Given the description of an element on the screen output the (x, y) to click on. 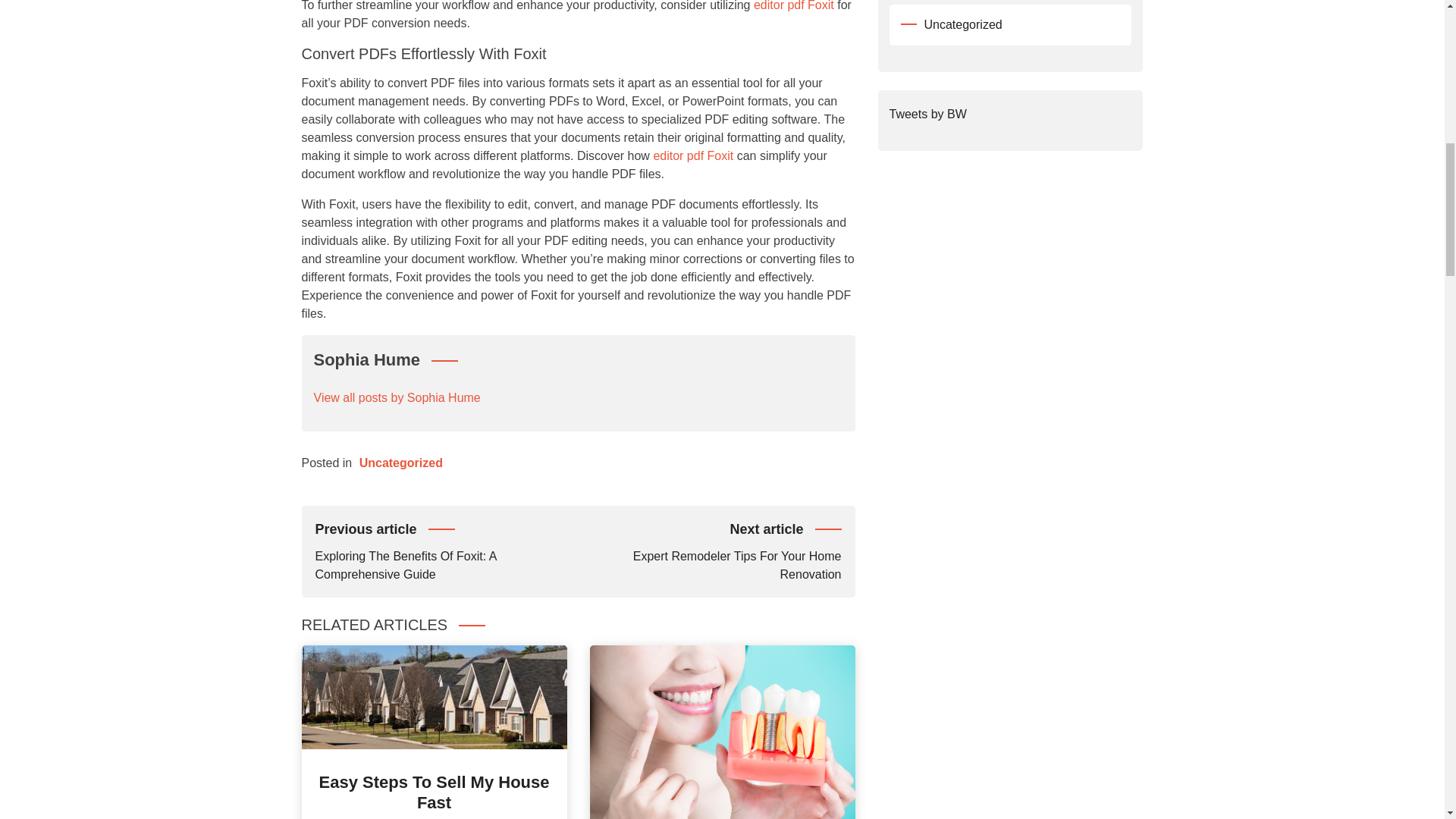
Uncategorized (400, 462)
Easy Steps To Sell My House Fast (433, 792)
View all posts by Sophia Hume (397, 397)
editor pdf Foxit (692, 154)
editor pdf Foxit (794, 5)
